Given the description of an element on the screen output the (x, y) to click on. 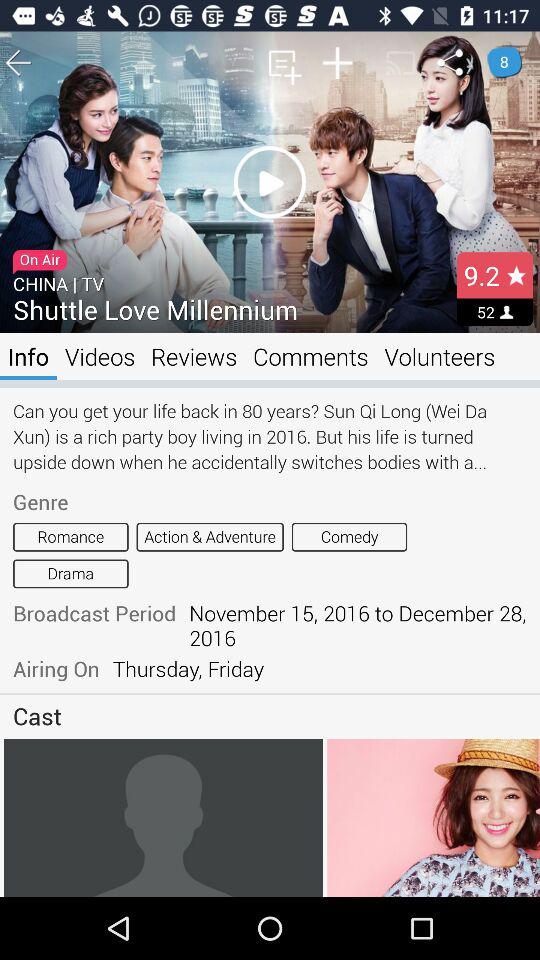
select app to the right of reviews item (310, 356)
